Given the description of an element on the screen output the (x, y) to click on. 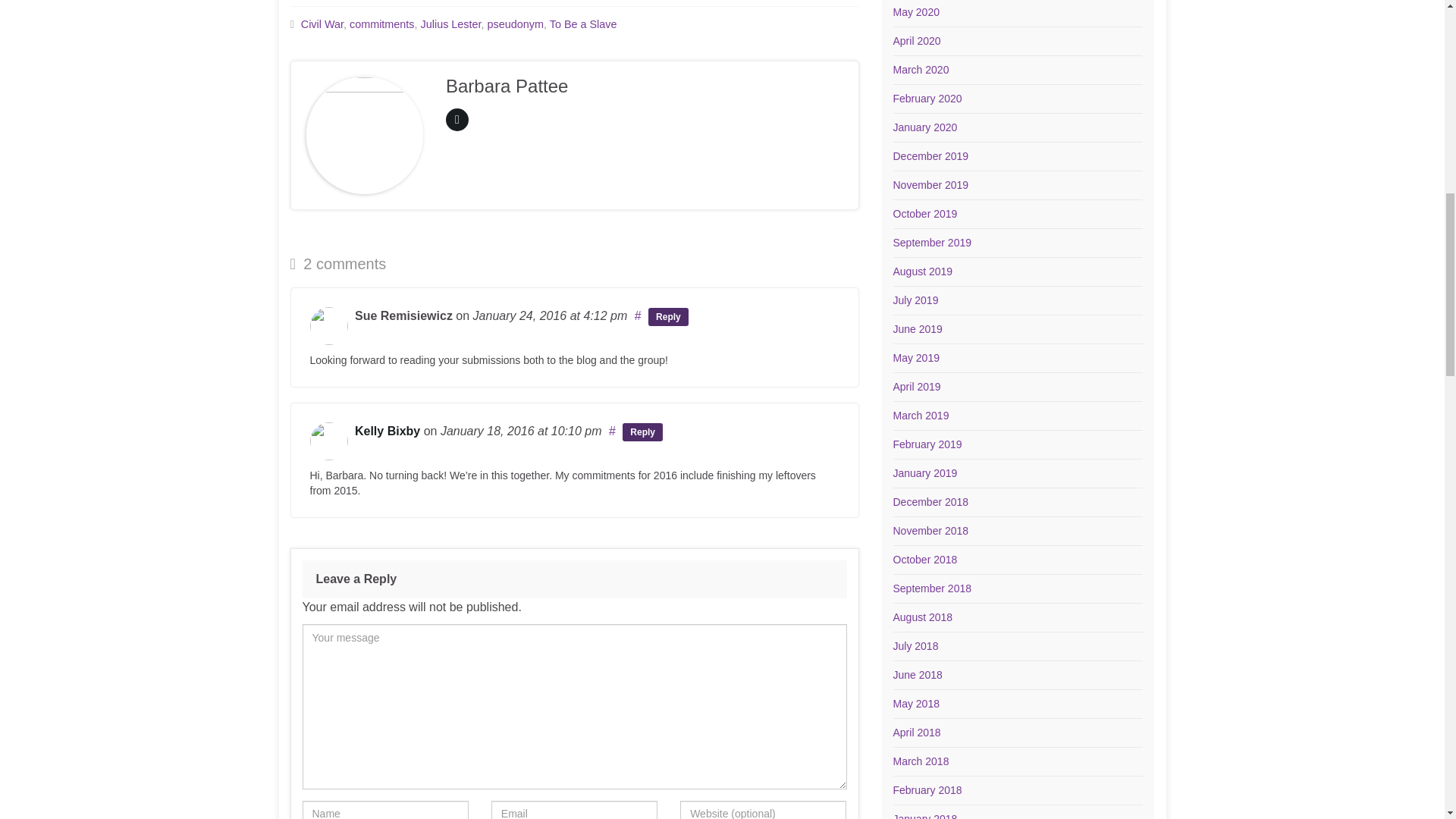
Kelly Bixby (387, 431)
commitments (381, 24)
Julius Lester (450, 24)
Reply (667, 316)
To Be a Slave (583, 24)
pseudonym (515, 24)
Civil War (322, 24)
Reply (642, 432)
